Given the description of an element on the screen output the (x, y) to click on. 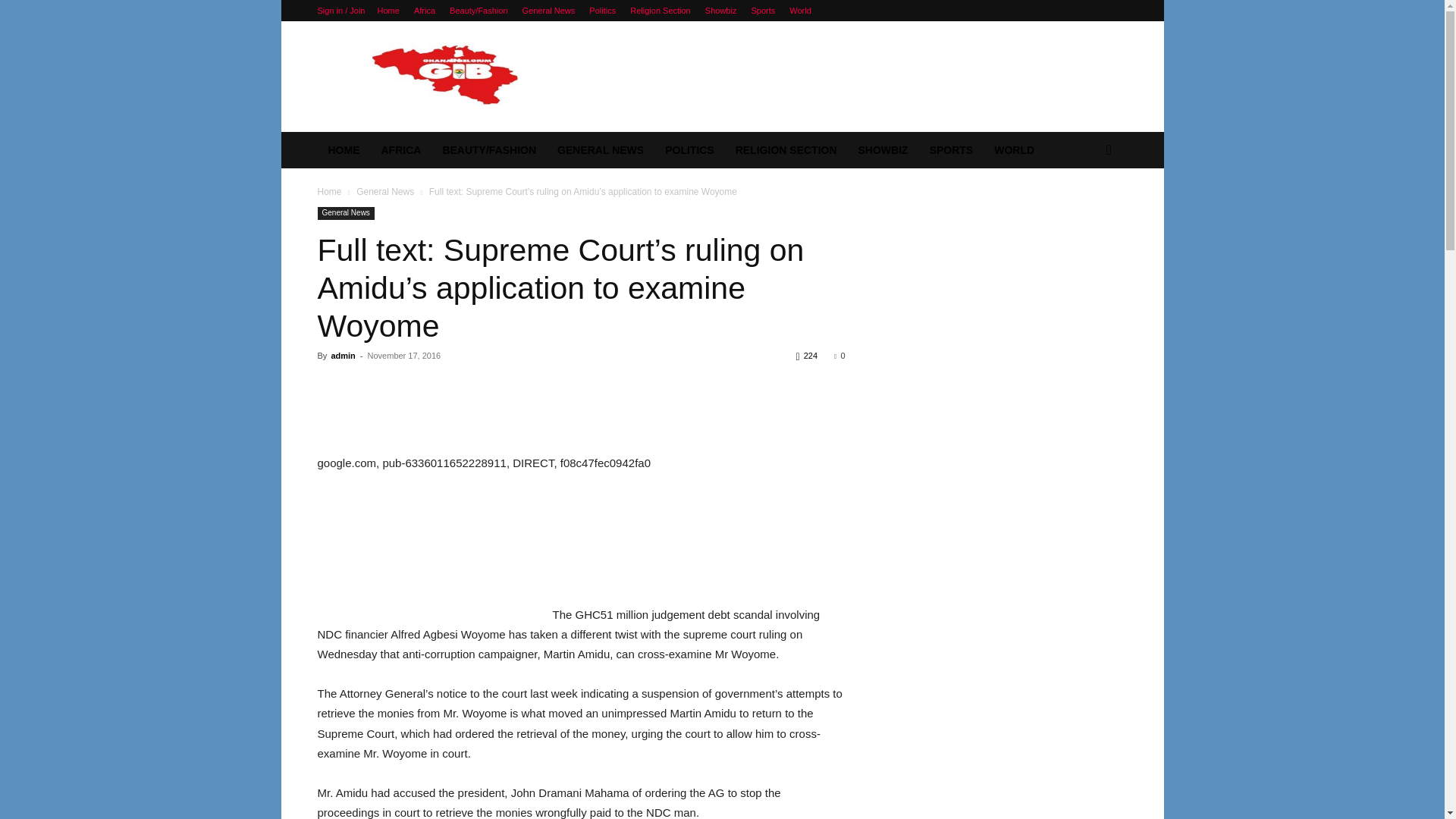
HOME (343, 149)
AFRICA (399, 149)
View all posts in General News (384, 191)
World (799, 10)
Religion Section (660, 10)
Politics (602, 10)
Africa (424, 10)
Home (387, 10)
General News (548, 10)
Sports (762, 10)
